Given the description of an element on the screen output the (x, y) to click on. 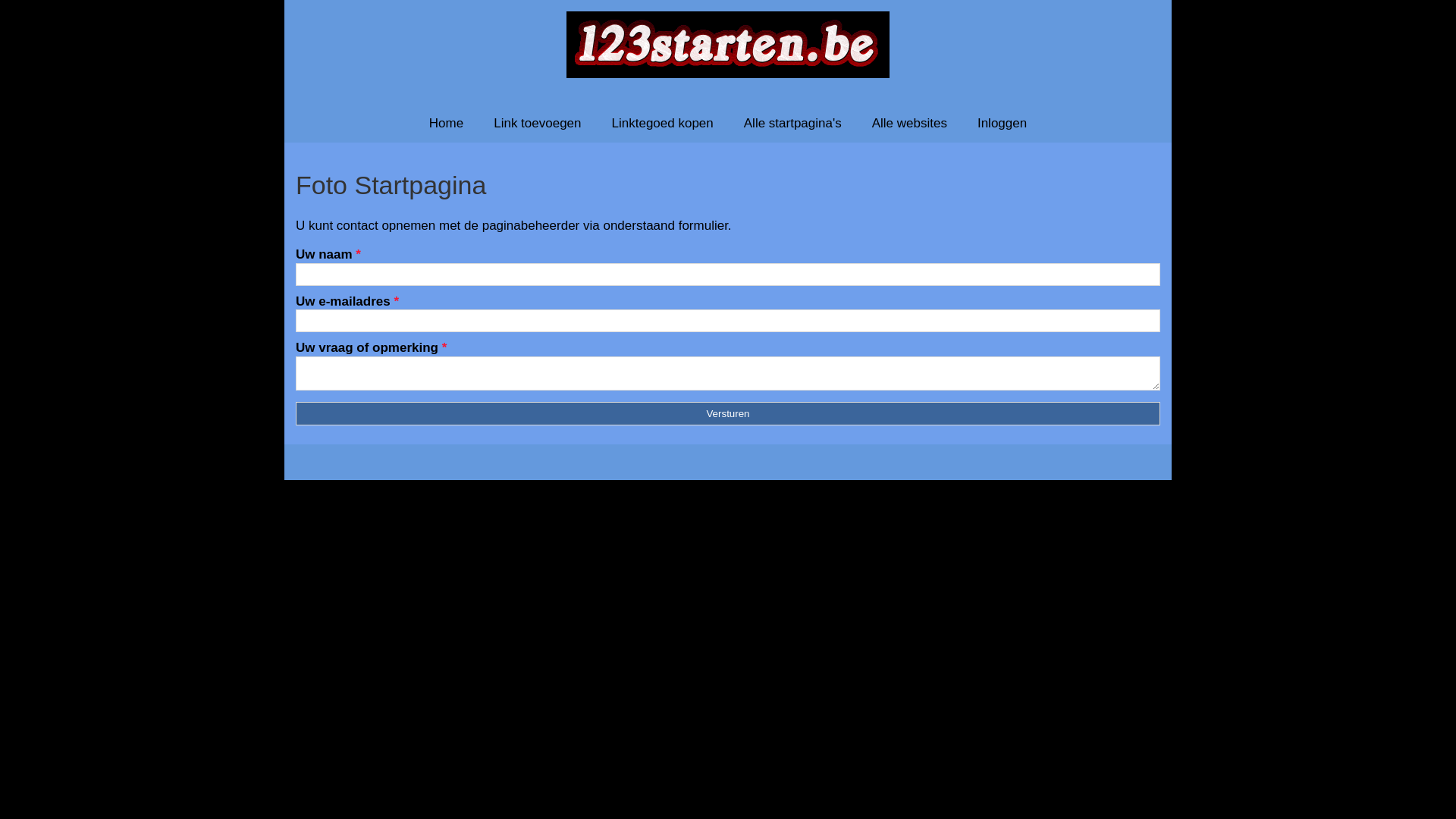
Link toevoegen Element type: text (537, 122)
Inloggen Element type: text (1001, 122)
Versturen Element type: text (727, 412)
Foto Startpagina Element type: text (727, 185)
Home Element type: text (446, 122)
Alle websites Element type: text (909, 122)
Linktegoed kopen Element type: text (662, 122)
Alle startpagina's Element type: text (792, 122)
